Given the description of an element on the screen output the (x, y) to click on. 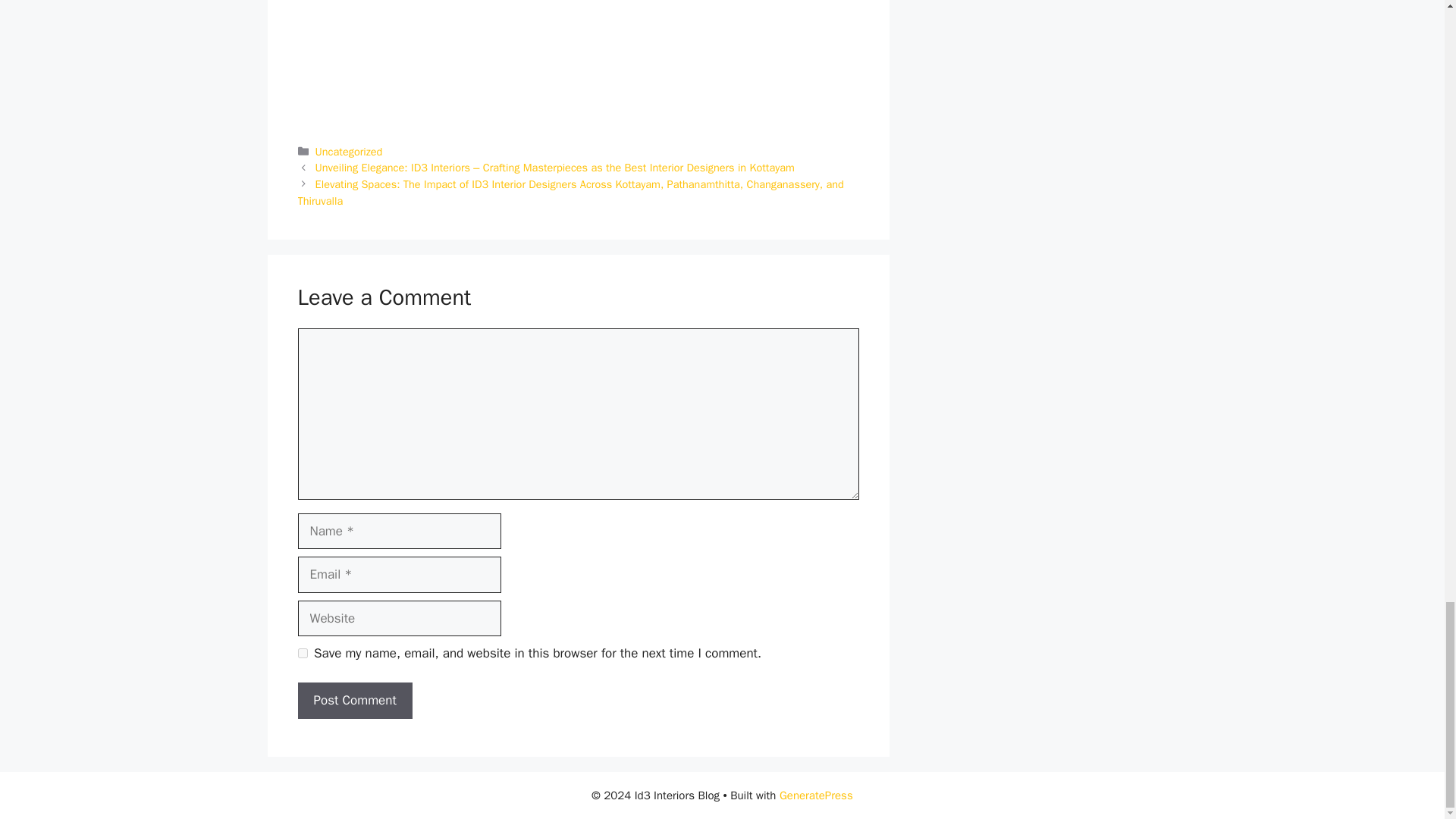
Uncategorized (348, 151)
Post Comment (354, 700)
GeneratePress (815, 795)
yes (302, 653)
Post Comment (354, 700)
